Given the description of an element on the screen output the (x, y) to click on. 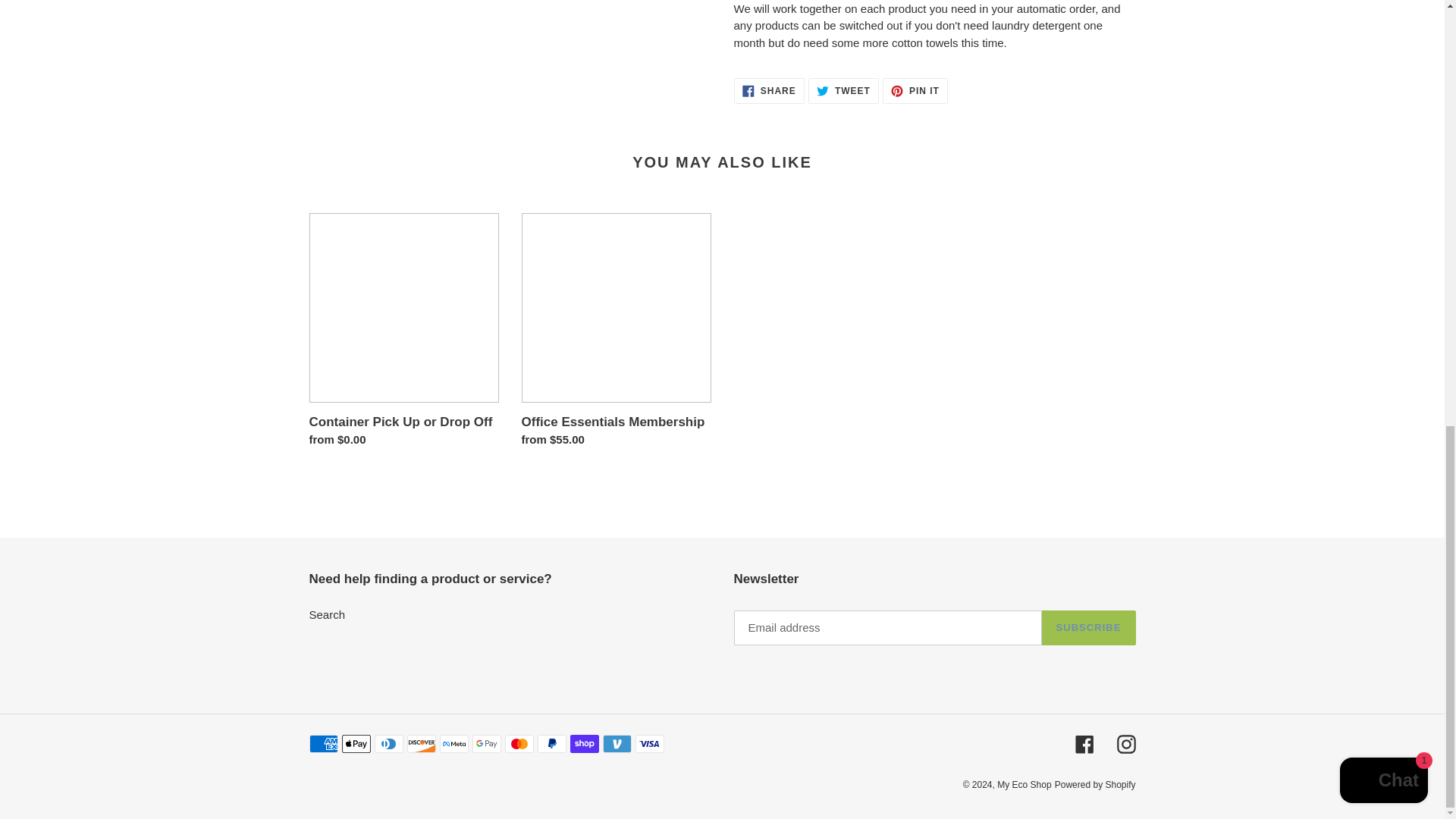
Instagram (914, 90)
Search (1125, 743)
My Eco Shop (327, 614)
Powered by Shopify (1024, 784)
SUBSCRIBE (1094, 784)
Facebook (1088, 627)
